Given the description of an element on the screen output the (x, y) to click on. 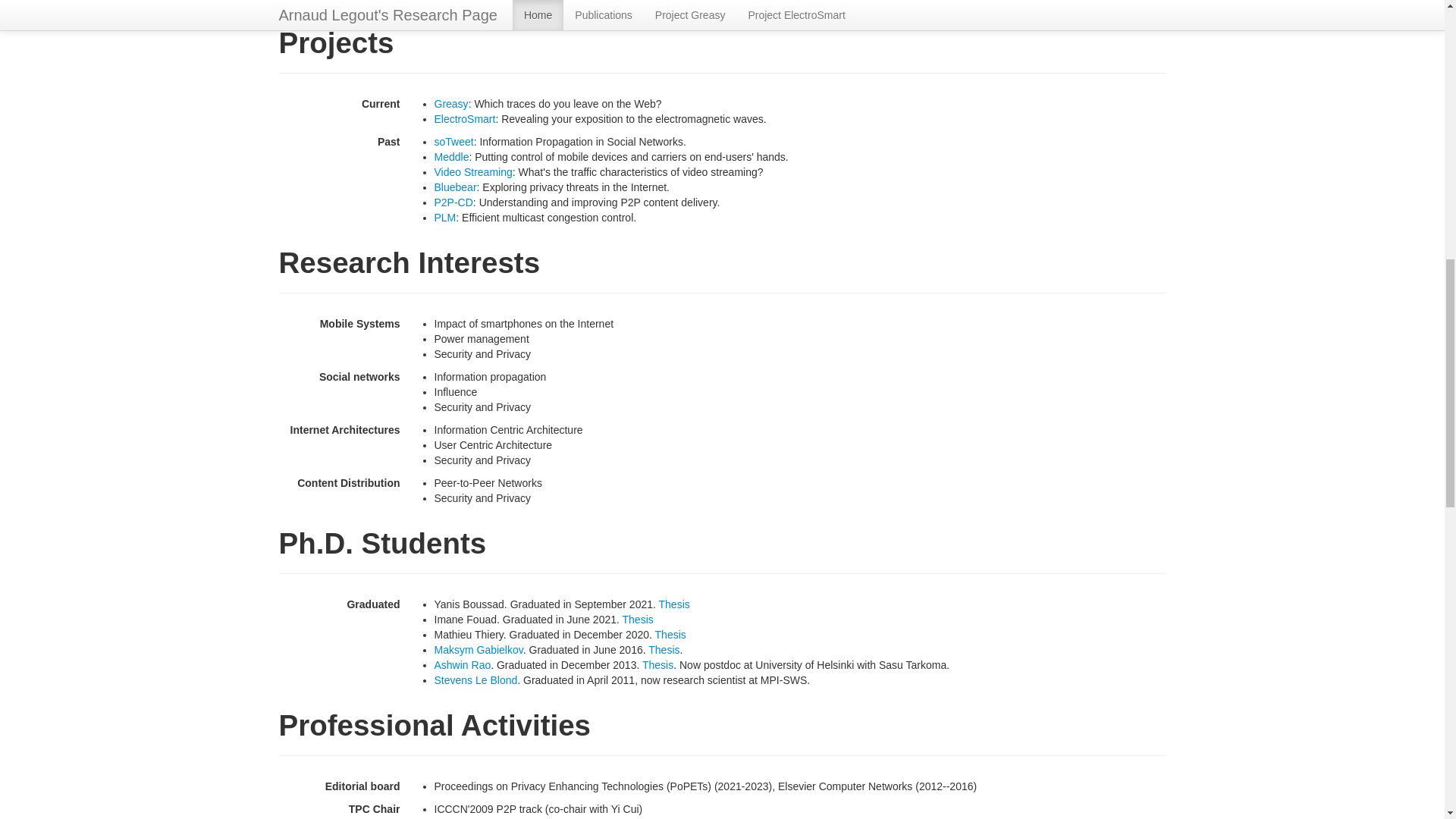
Ashwin Rao (461, 664)
Stevens Le Blond (474, 680)
Publications, Talks, and Patents (379, 6)
Thesis (663, 649)
ElectroSmart (464, 119)
Meddle (450, 156)
Maksym Gabielkov (477, 649)
Google scholar profile (557, 6)
P2P-CD (452, 202)
Video Streaming (472, 172)
Thesis (670, 634)
Thesis (674, 604)
Thesis (638, 619)
Thesis (657, 664)
Greasy (450, 103)
